Given the description of an element on the screen output the (x, y) to click on. 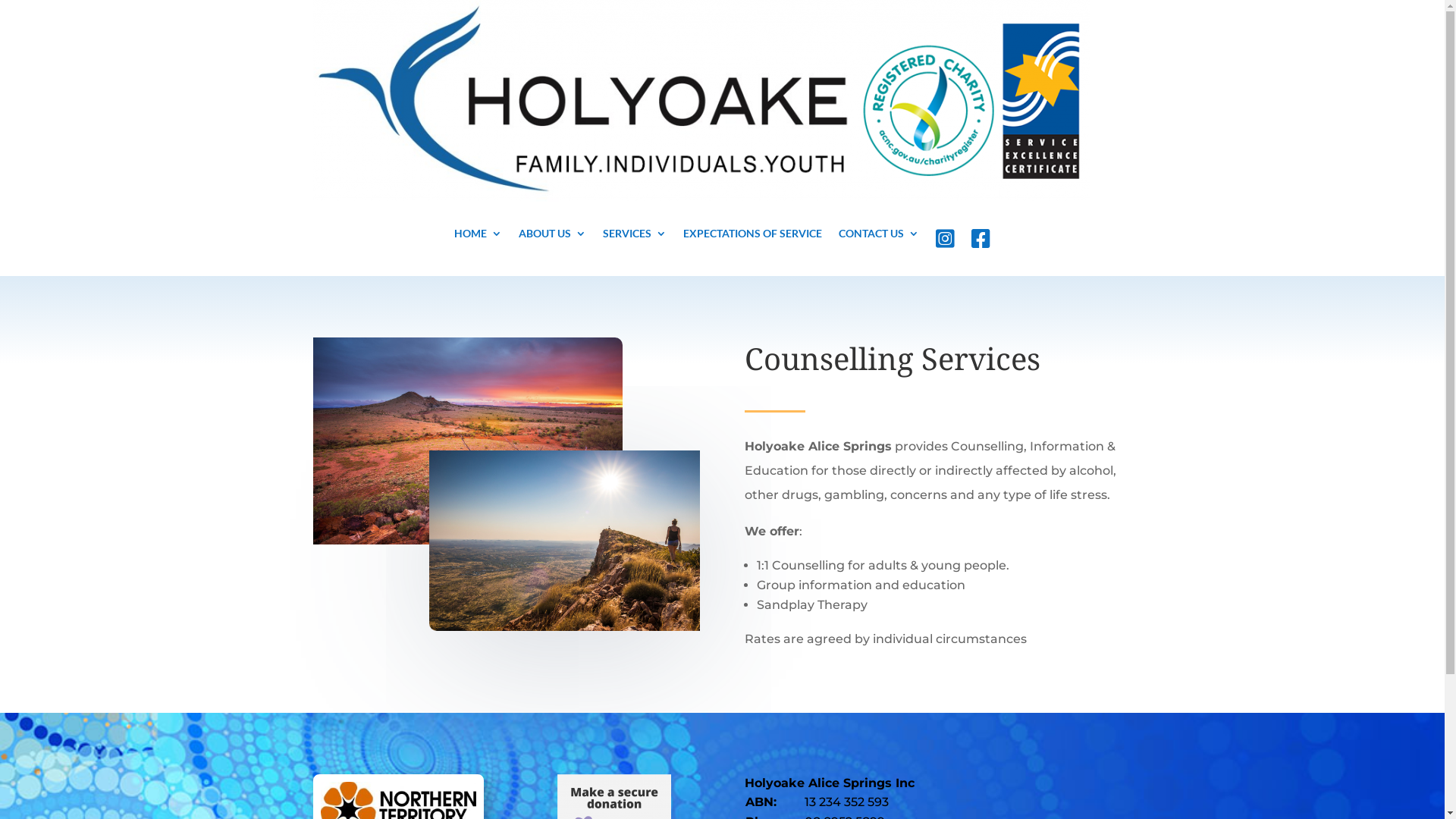
EXPECTATIONS OF SERVICE Element type: text (752, 241)
HOME Element type: text (478, 241)
CONTACT US Element type: text (878, 241)
Holyoake Logo 2020 1000x290 Element type: hover (700, 100)
ABOUT US Element type: text (552, 241)
SERVICES Element type: text (634, 241)
